Given the description of an element on the screen output the (x, y) to click on. 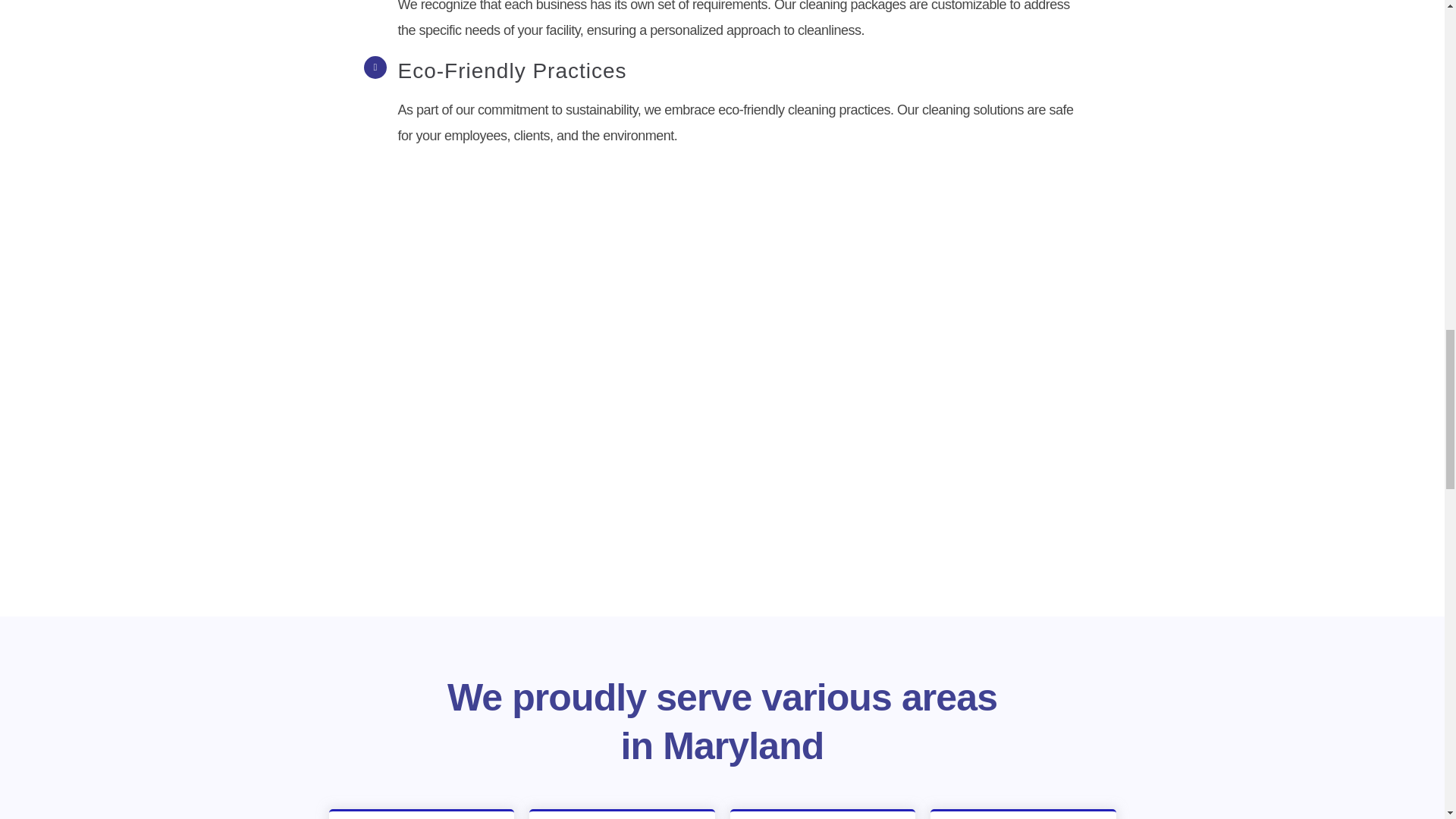
TOWSON (1023, 814)
BALTIMORE (422, 814)
REISTERSTOWN (822, 814)
OWINGS MILLS (621, 814)
